Given the description of an element on the screen output the (x, y) to click on. 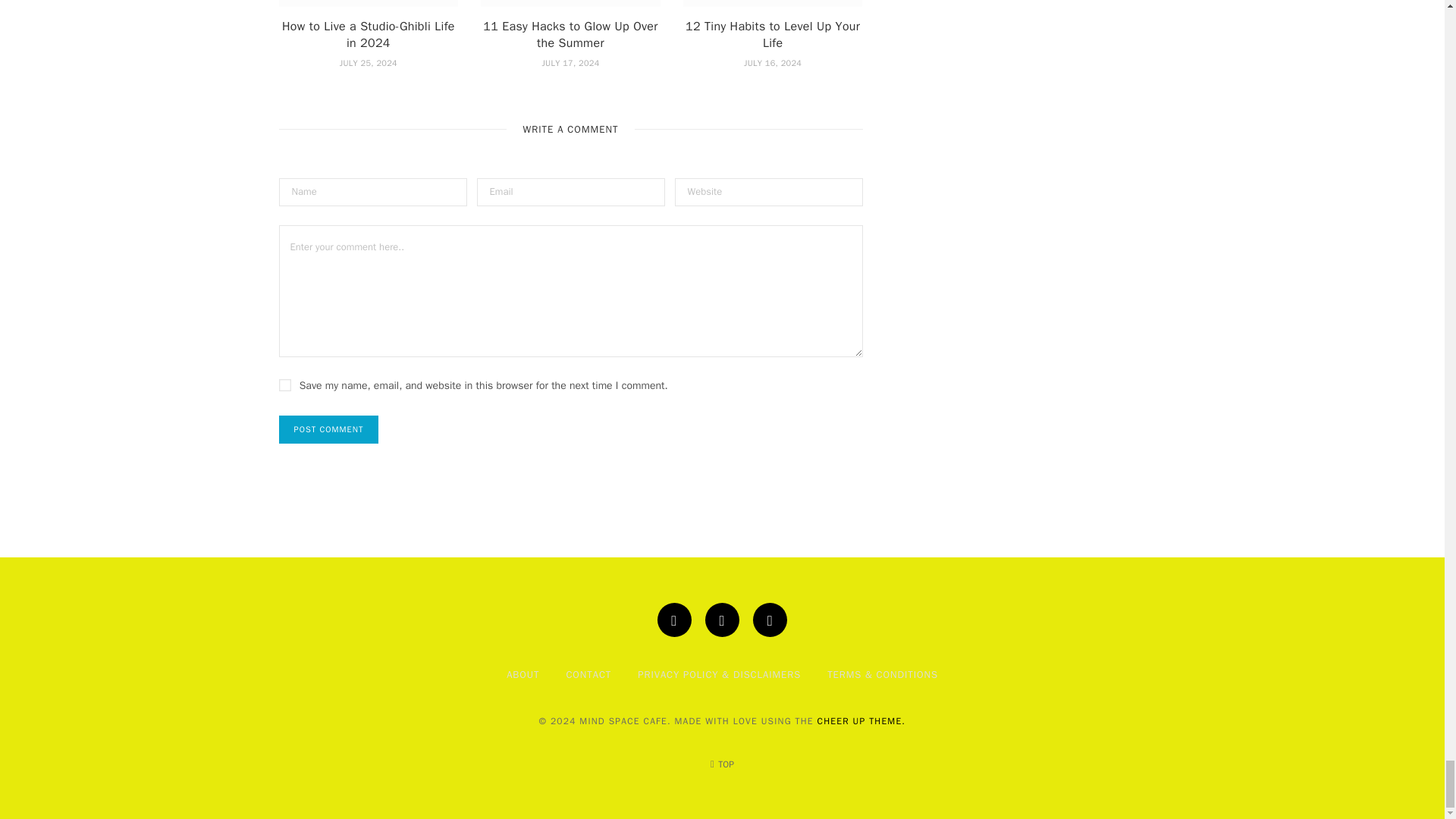
11 Easy Hacks to Glow Up Over the Summer (570, 3)
Post Comment (328, 429)
yes (285, 385)
How to Live a Studio-Ghibli Life in 2024 (368, 3)
